Given the description of an element on the screen output the (x, y) to click on. 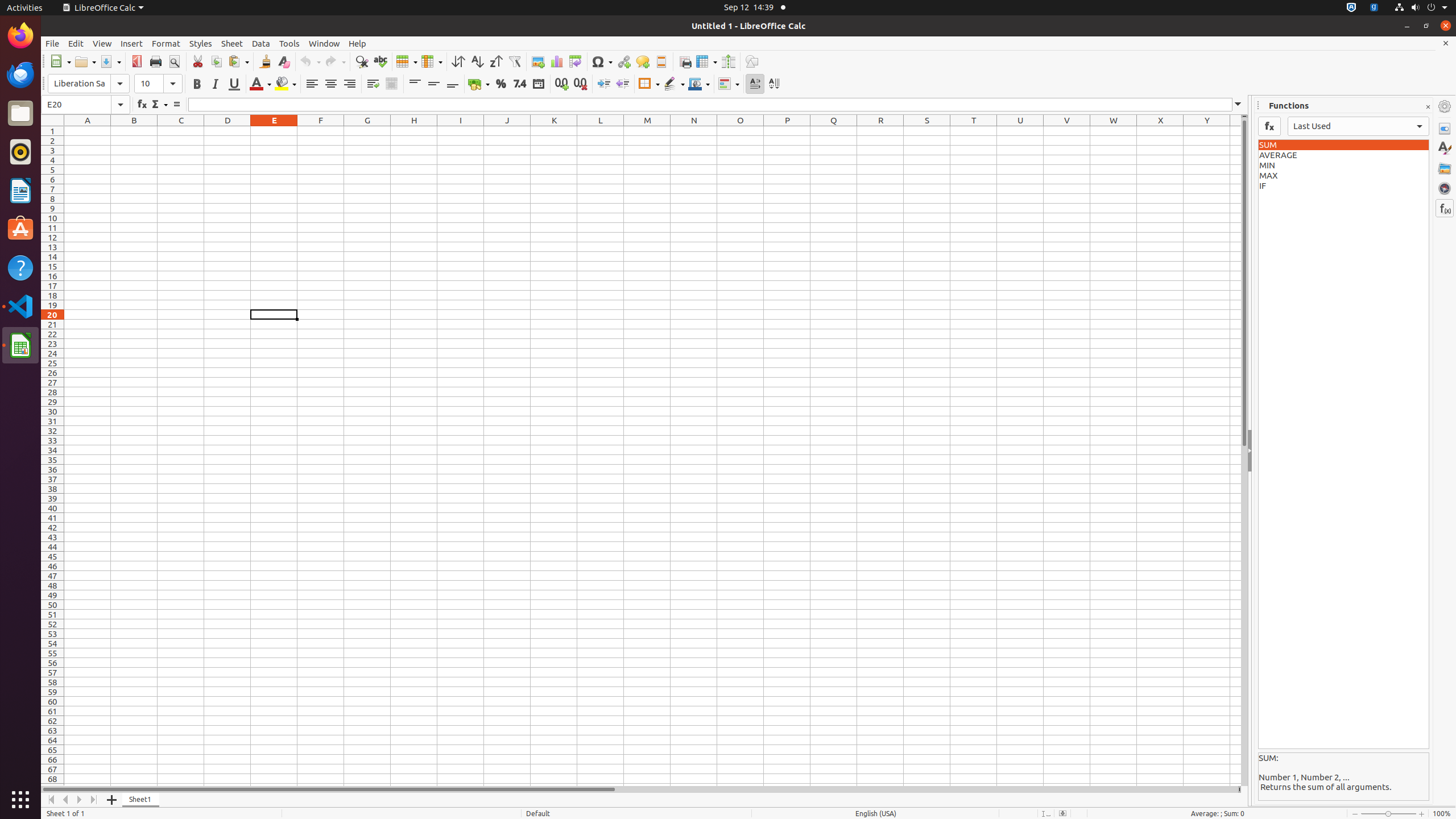
Insert Function into calculation sheet Element type: push-button (1269, 125)
Open Element type: push-button (84, 61)
Headers and Footers Element type: push-button (660, 61)
Text direction from left to right Element type: toggle-button (754, 83)
LibreOffice Writer Element type: push-button (20, 190)
